Given the description of an element on the screen output the (x, y) to click on. 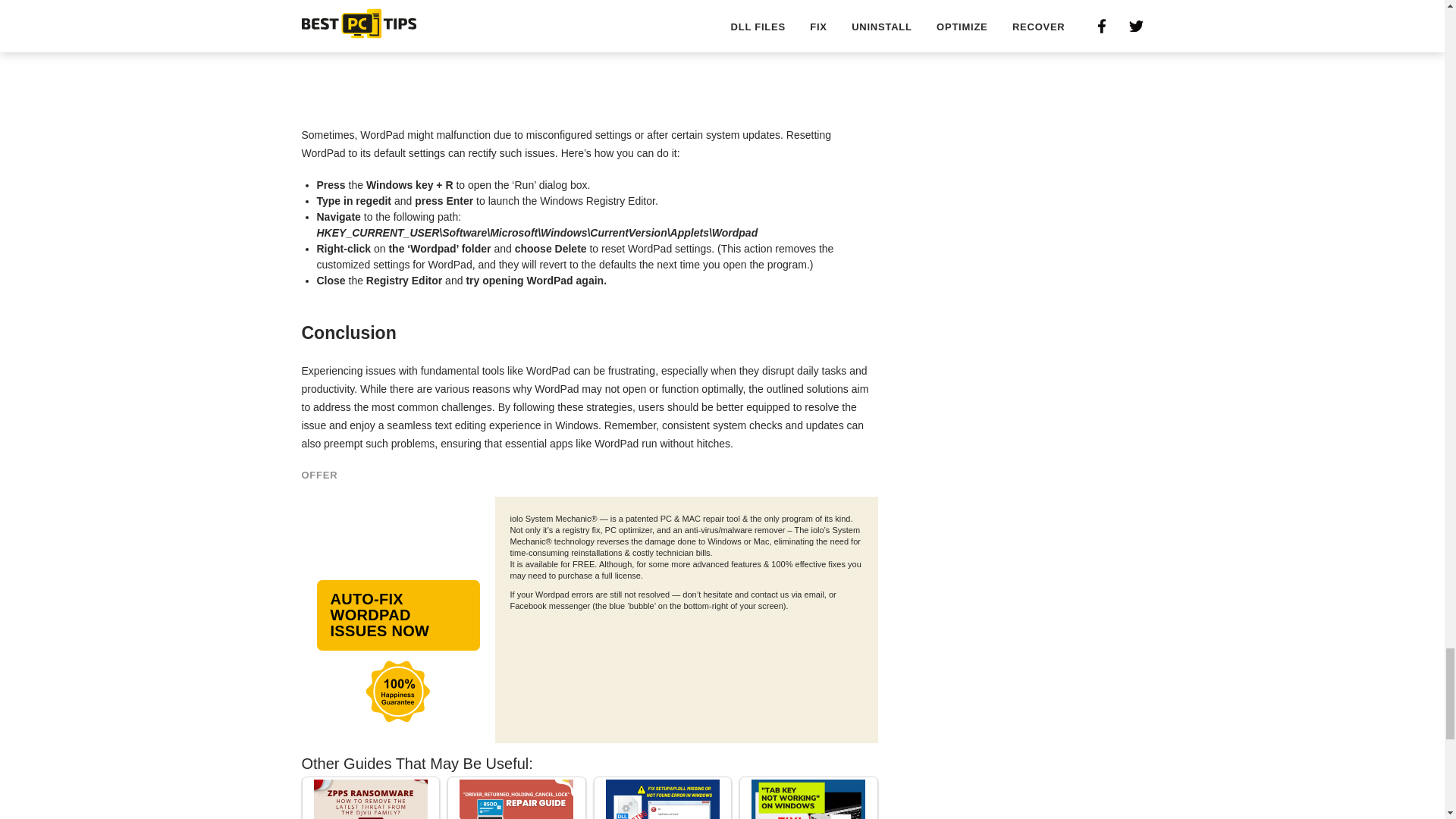
AUTO-FIX WORDPAD ISSUES NOW (398, 614)
"Tab Key Not Working" on Windows? Try These 12 Tested Fixes (808, 799)
Group (397, 691)
